Given the description of an element on the screen output the (x, y) to click on. 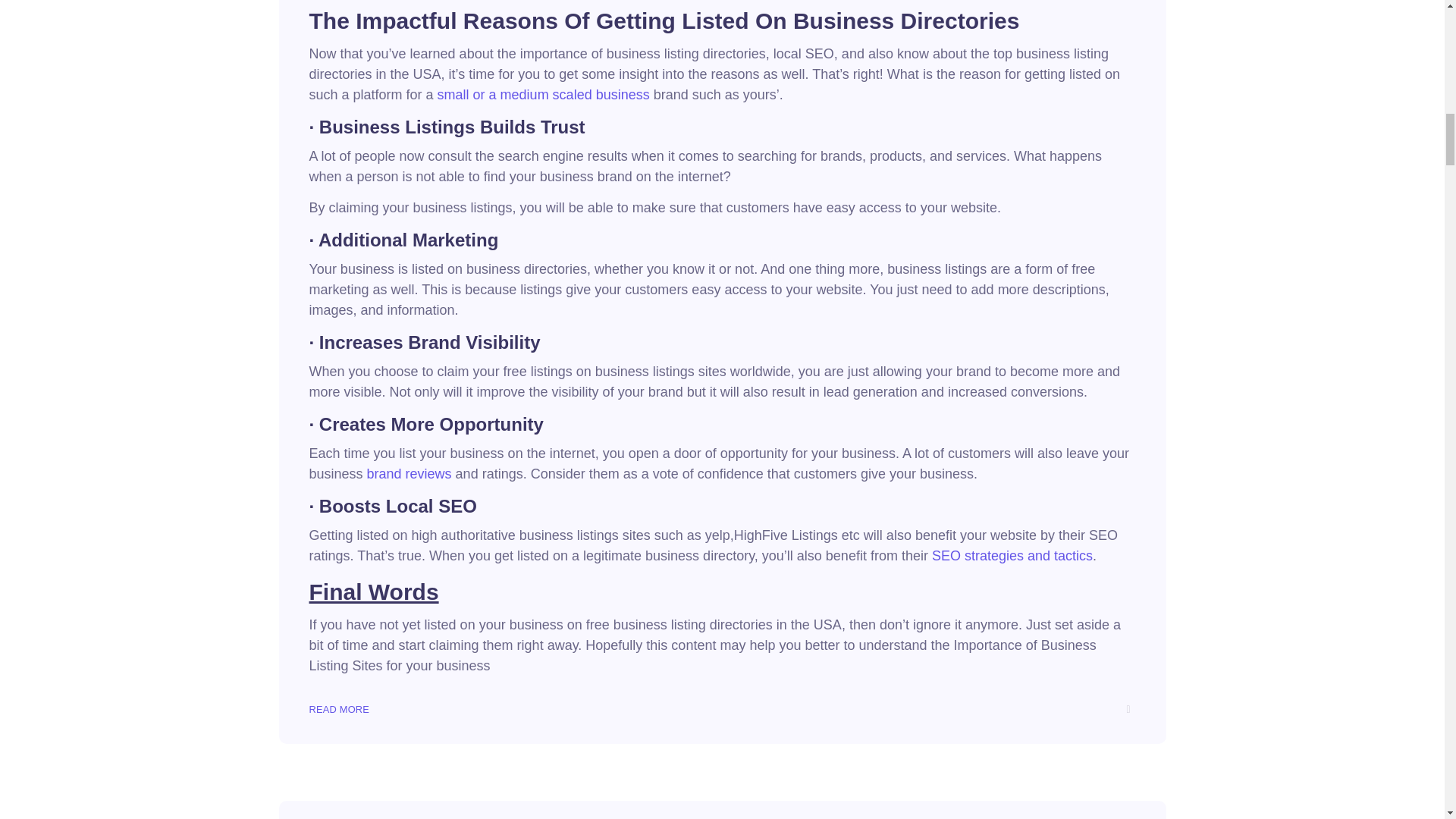
SEO strategies and tactics (1012, 555)
READ MORE (338, 709)
brand reviews (408, 473)
small or a medium scaled business (543, 94)
